Given the description of an element on the screen output the (x, y) to click on. 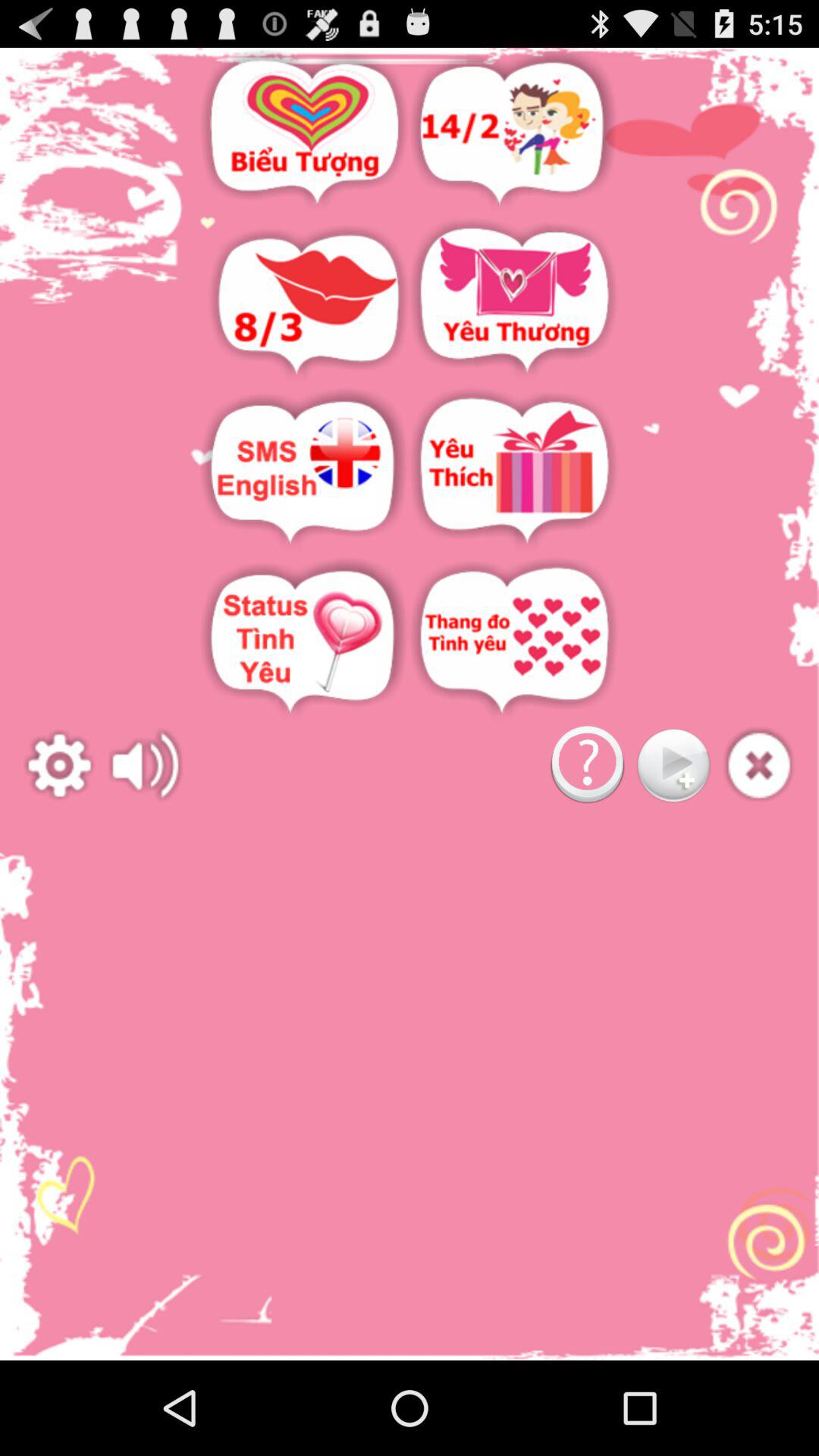
go to increase (145, 765)
